Given the description of an element on the screen output the (x, y) to click on. 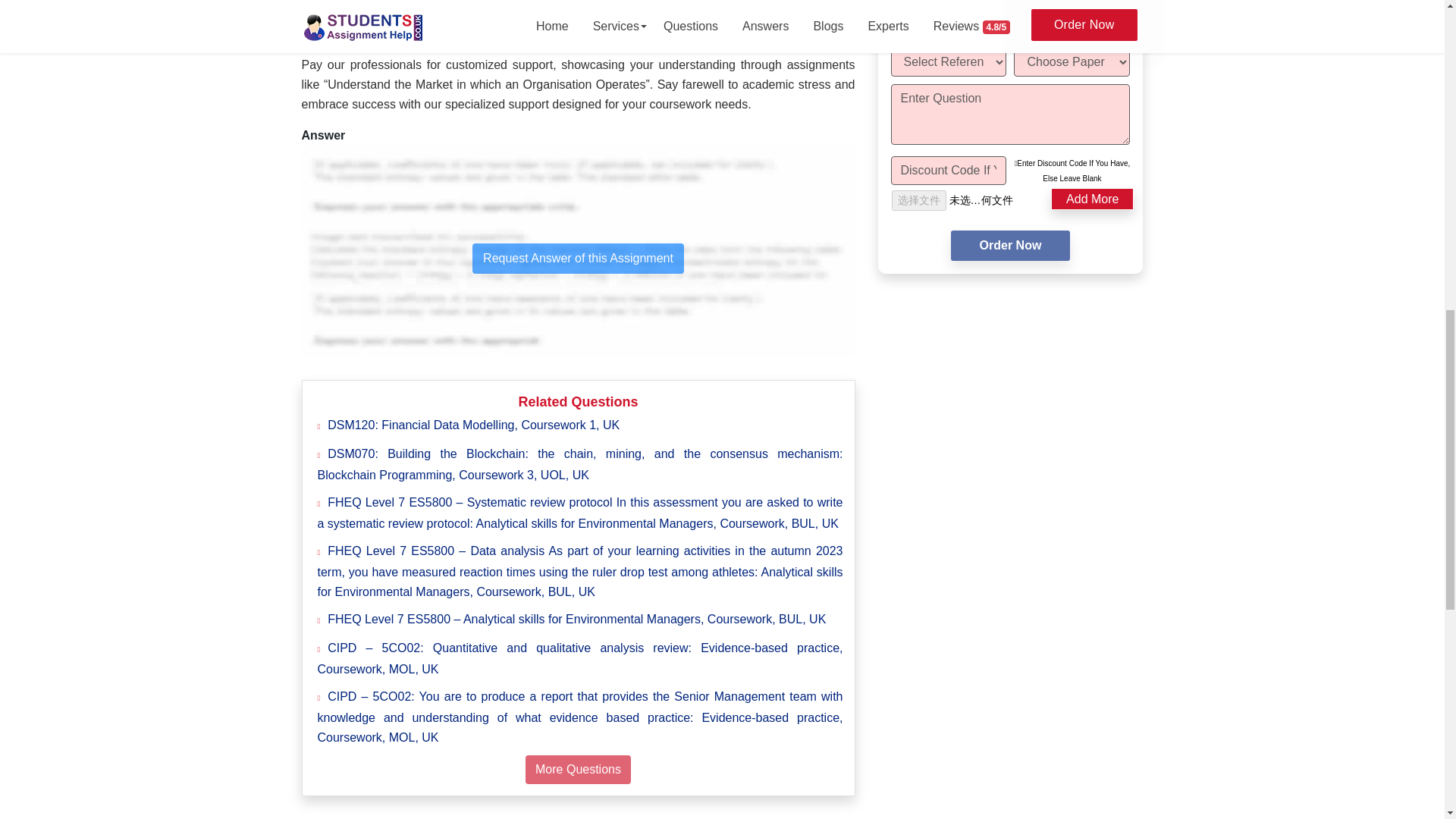
Order Now (1010, 245)
